Given the description of an element on the screen output the (x, y) to click on. 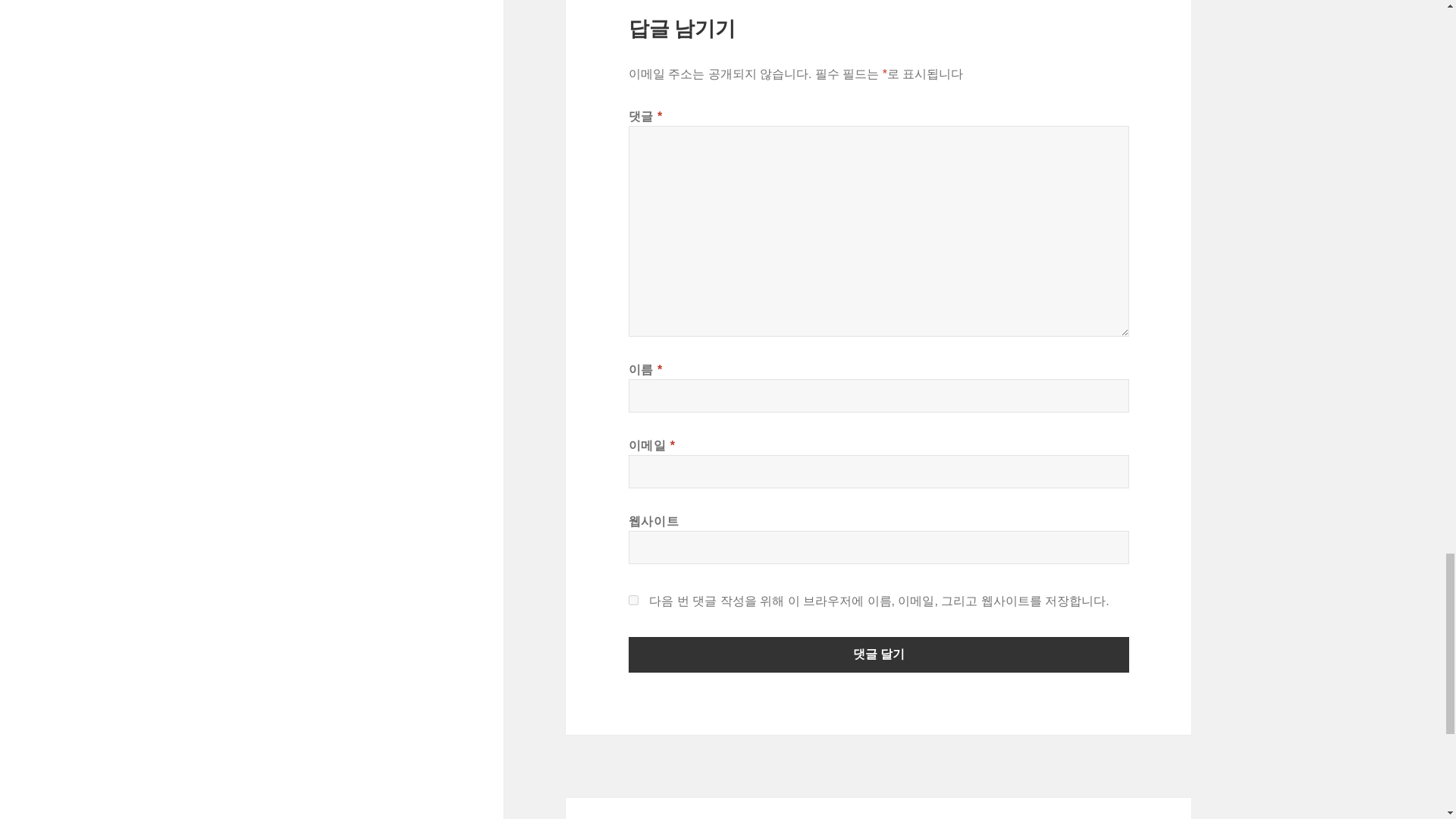
yes (633, 600)
